Given the description of an element on the screen output the (x, y) to click on. 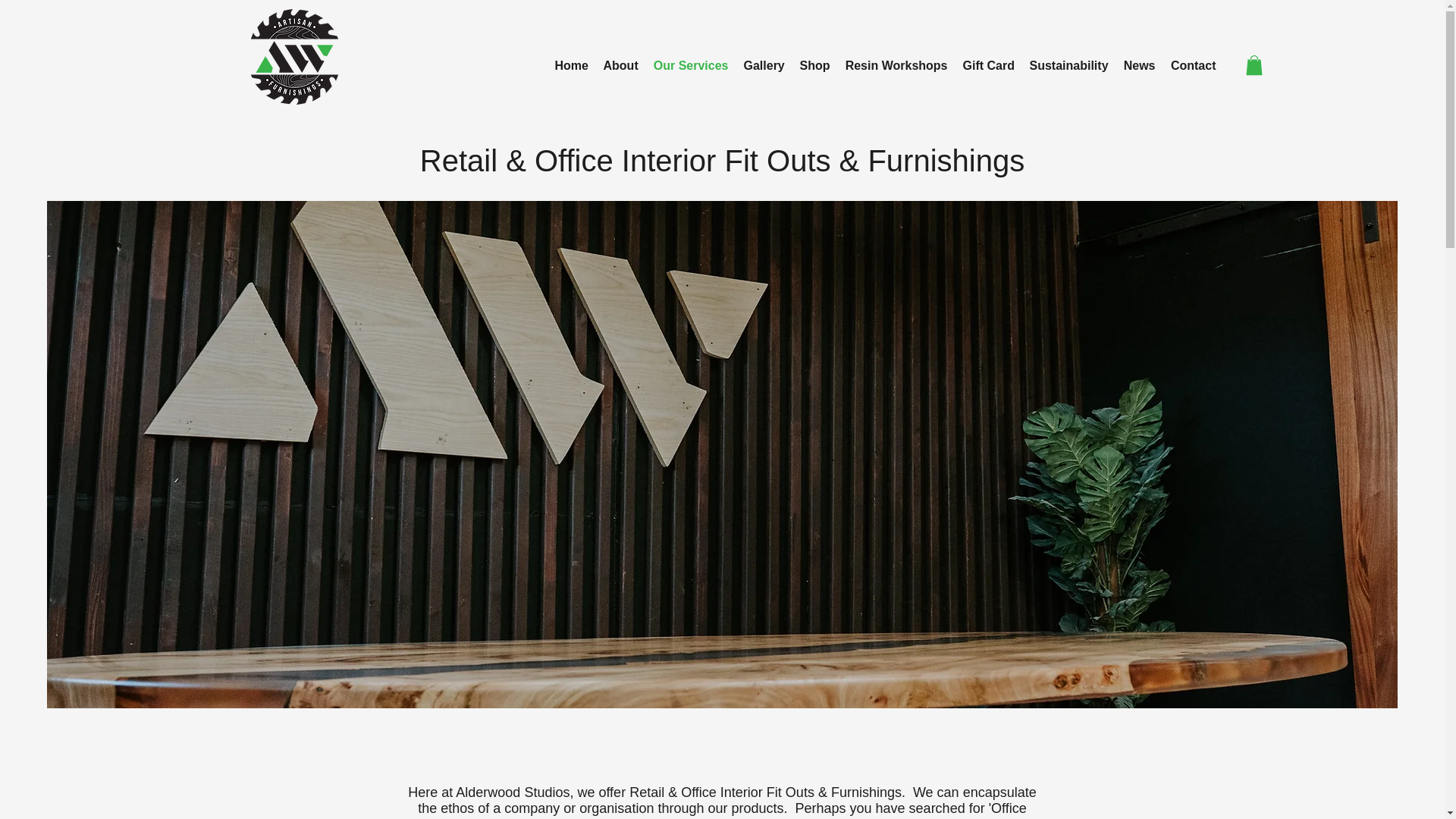
Shop (814, 65)
Home (571, 65)
Our Services (691, 65)
About (620, 65)
Gallery (763, 65)
Resin Workshops (896, 65)
Contact (1193, 65)
Gift Card (988, 65)
News (1139, 65)
Sustainability (1069, 65)
